Given the description of an element on the screen output the (x, y) to click on. 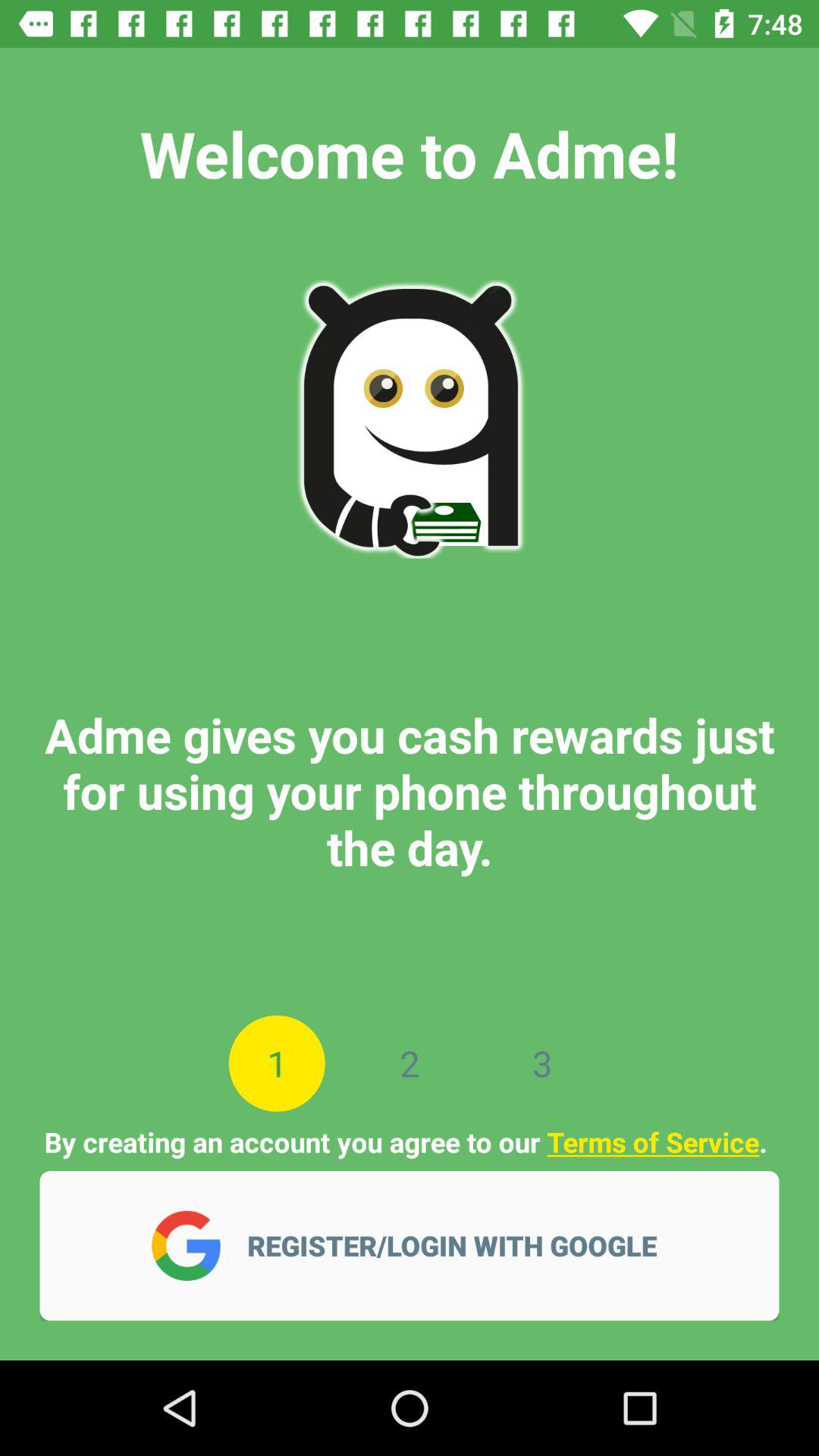
turn off the icon above the by creating an icon (409, 1063)
